Given the description of an element on the screen output the (x, y) to click on. 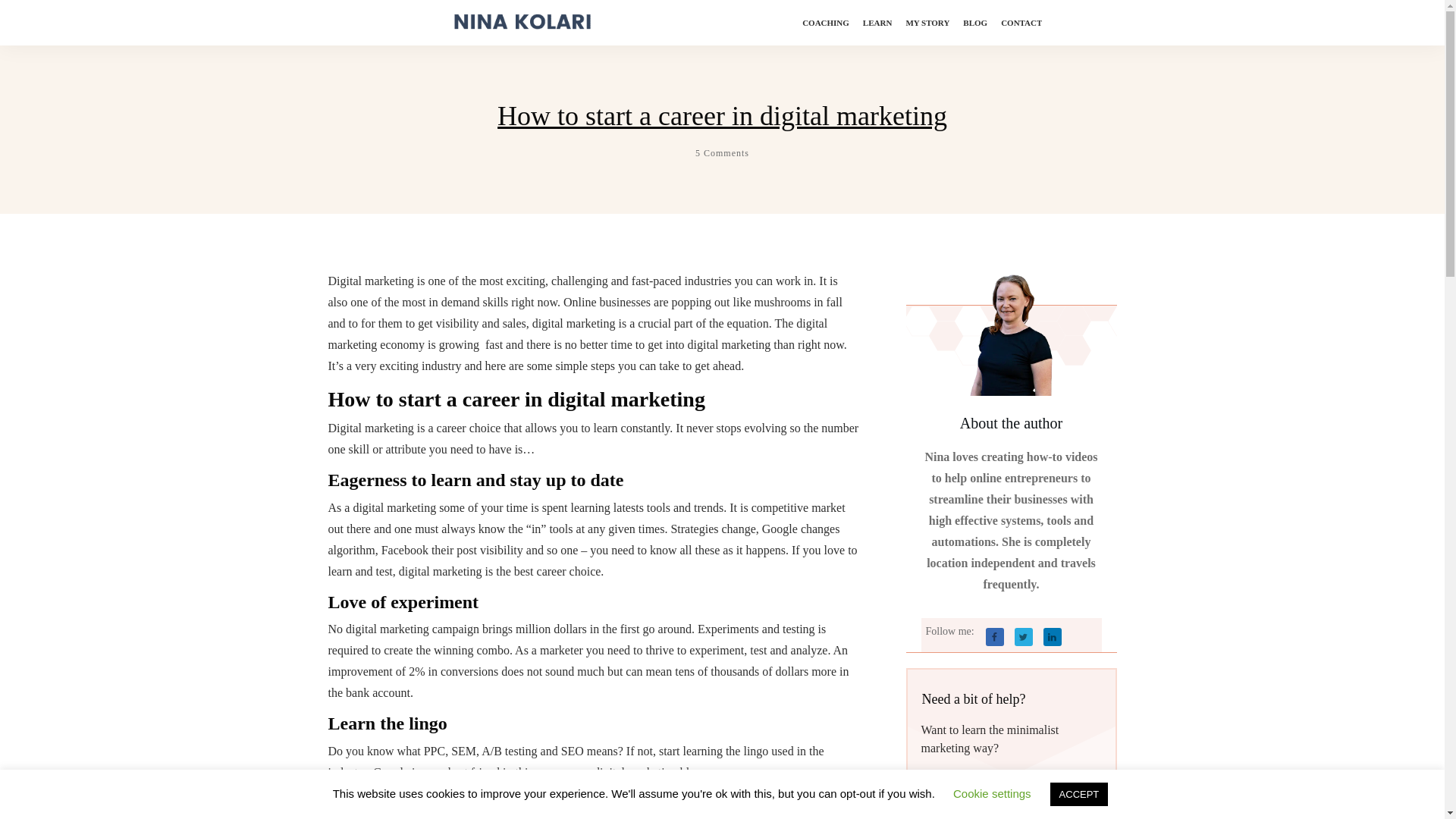
How to start a career in digital marketing (722, 115)
BLOG (974, 22)
CONTACT (1021, 22)
WORK WITH ME (986, 790)
MY STORY (927, 22)
How to start a career in digital marketing (722, 115)
COACHING (825, 22)
LEARN (877, 22)
